Given the description of an element on the screen output the (x, y) to click on. 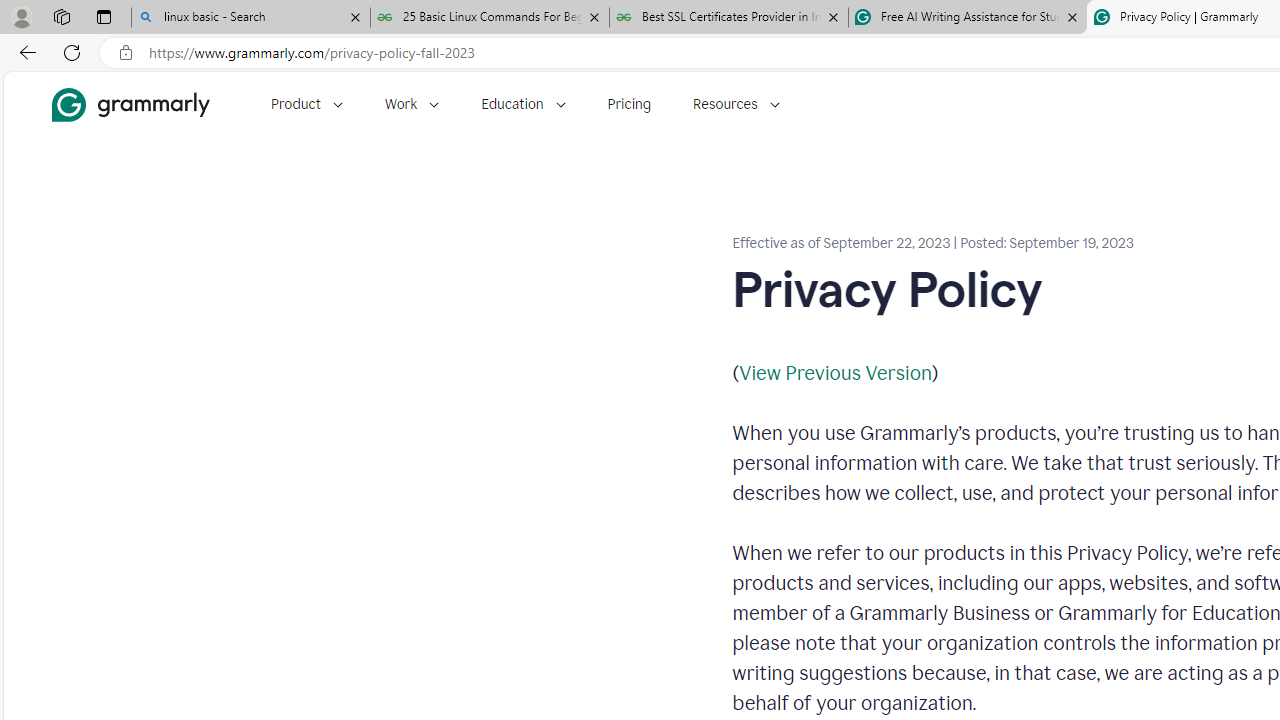
Grammarly Home (130, 104)
25 Basic Linux Commands For Beginners - GeeksforGeeks (490, 17)
Resources (736, 104)
Resources (736, 103)
Pricing (629, 103)
